Given the description of an element on the screen output the (x, y) to click on. 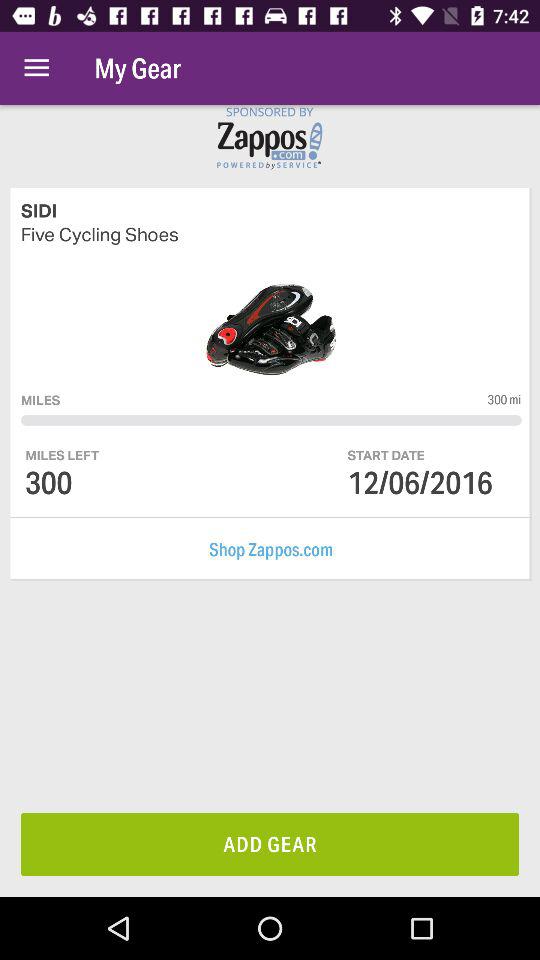
turn off the 300 mi icon (504, 399)
